Given the description of an element on the screen output the (x, y) to click on. 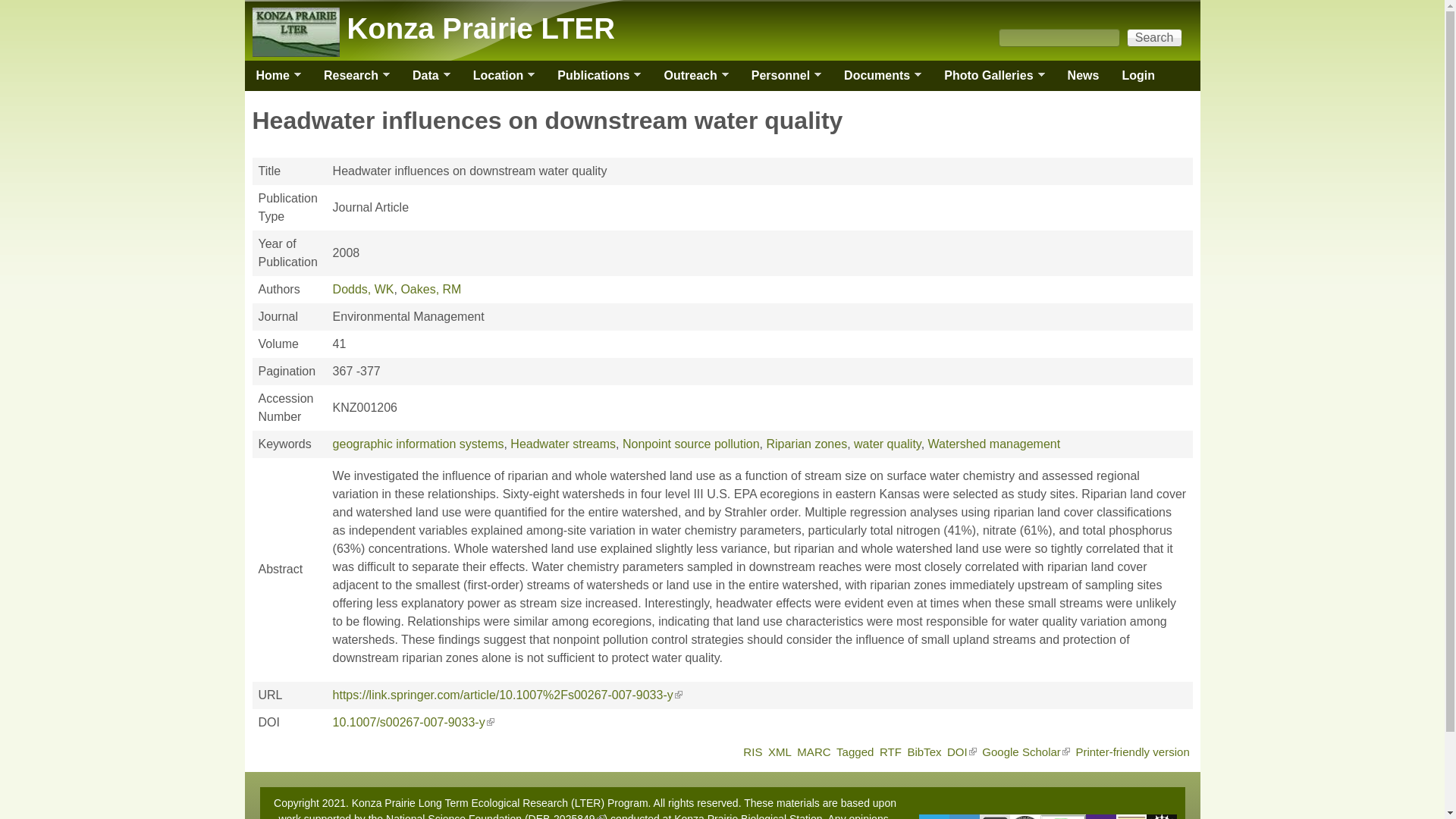
Enter the terms you wish to search for. (1058, 37)
Konza Prairie LTER (480, 28)
Search (1154, 37)
Home (271, 75)
Home page (480, 28)
Search (1154, 37)
